Given the description of an element on the screen output the (x, y) to click on. 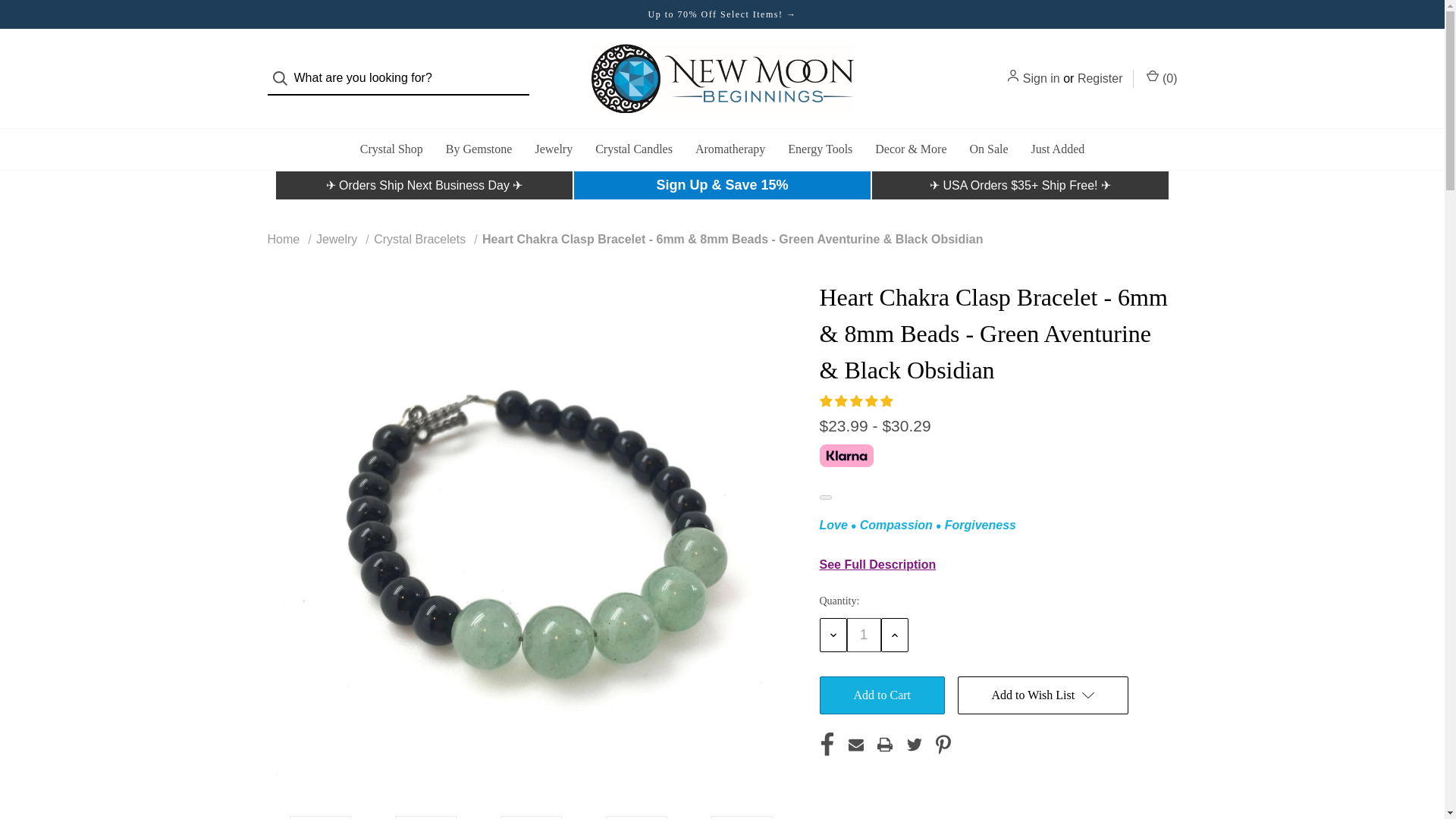
Register (1099, 78)
1 (862, 634)
New Moon Beginnings (722, 78)
Add to Cart (881, 695)
Sign in (1041, 78)
Crystal Shop (391, 148)
